Given the description of an element on the screen output the (x, y) to click on. 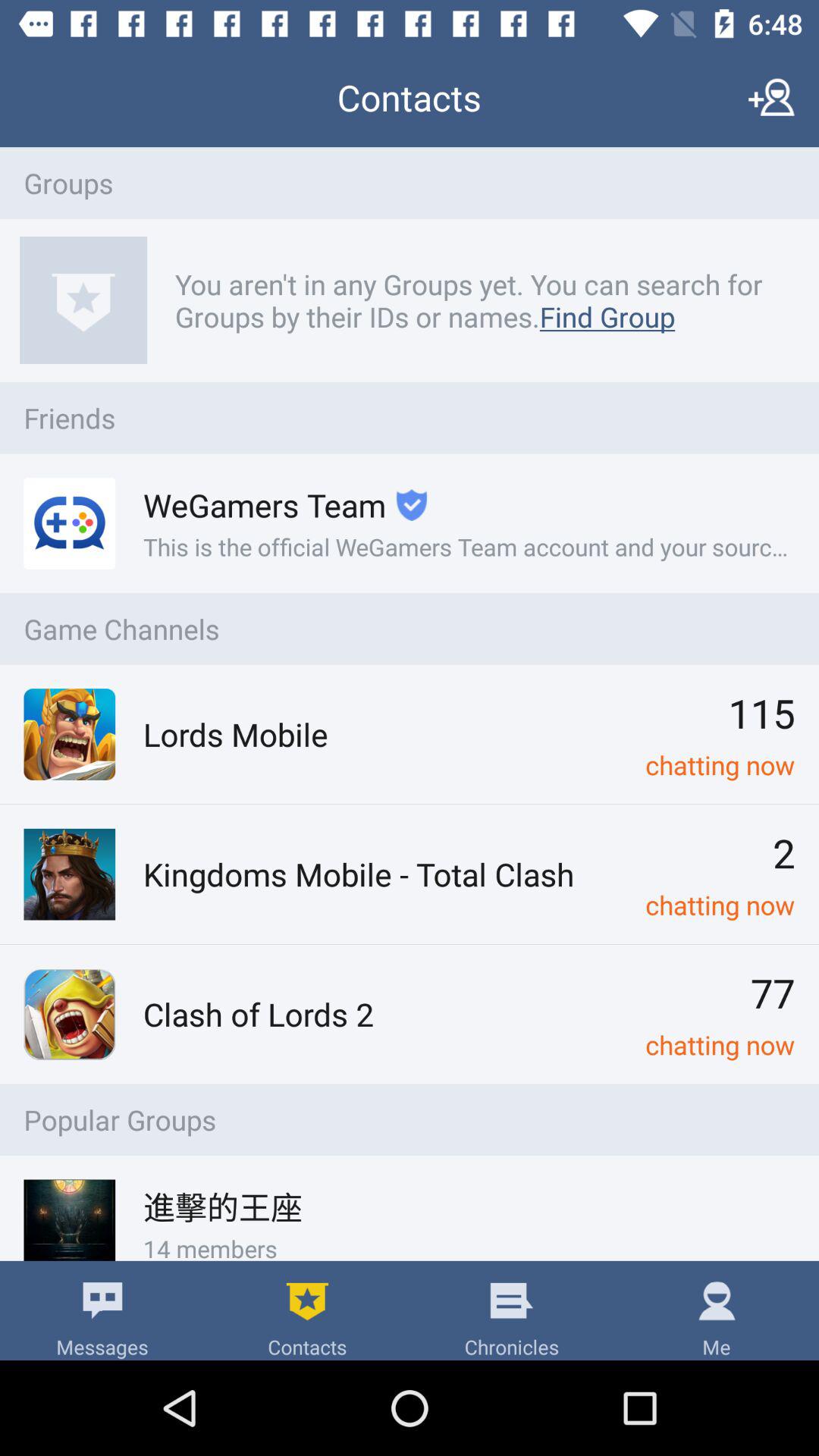
open you aren t app (477, 300)
